Given the description of an element on the screen output the (x, y) to click on. 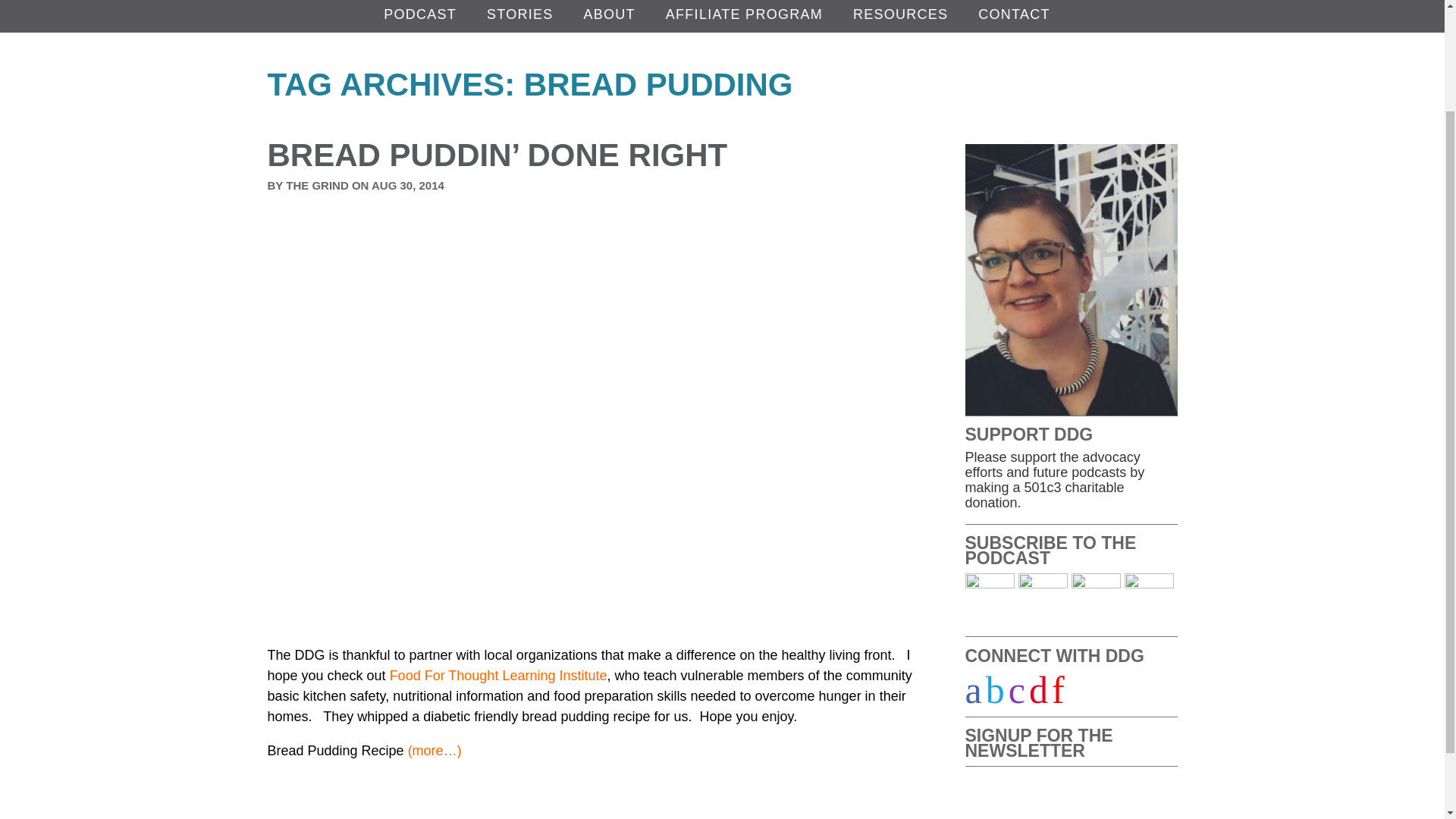
CONTACT (1019, 14)
Food For Thought Learning Institute (498, 675)
RESOURCES (905, 14)
ABOUT (614, 14)
STORIES (525, 14)
PODCAST (425, 14)
AFFILIATE PROGRAM (749, 14)
Food For Thought Learning Institute (498, 675)
